Given the description of an element on the screen output the (x, y) to click on. 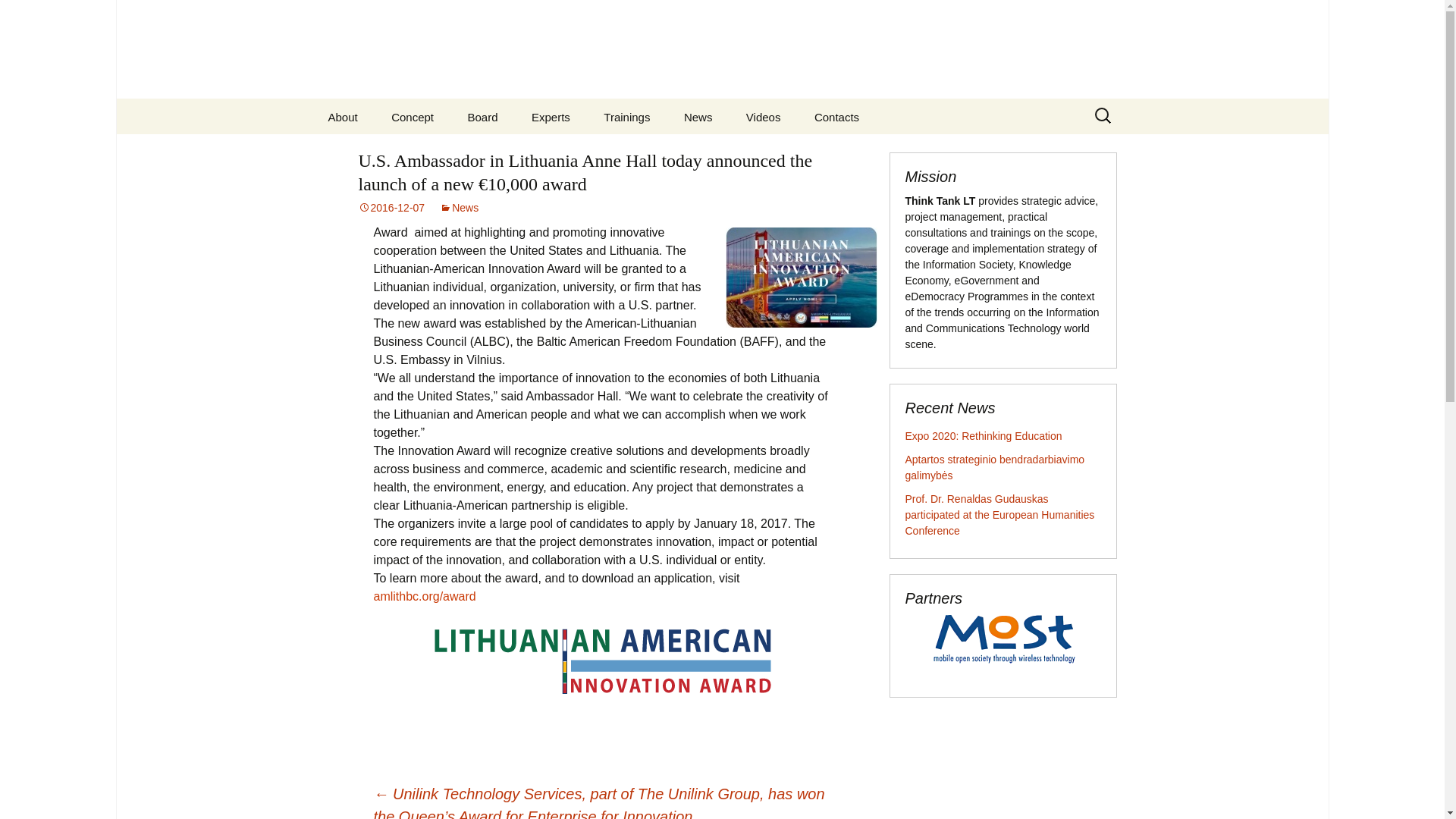
Trainings (626, 116)
Concept (411, 116)
Search (18, 15)
Contacts (837, 116)
News (698, 116)
Experts (550, 116)
Expo 2020: Rethinking Education (983, 435)
Board (481, 116)
2016-12-07 (391, 207)
News (459, 207)
About (342, 116)
Videos (763, 116)
home-icon (892, 109)
